Given the description of an element on the screen output the (x, y) to click on. 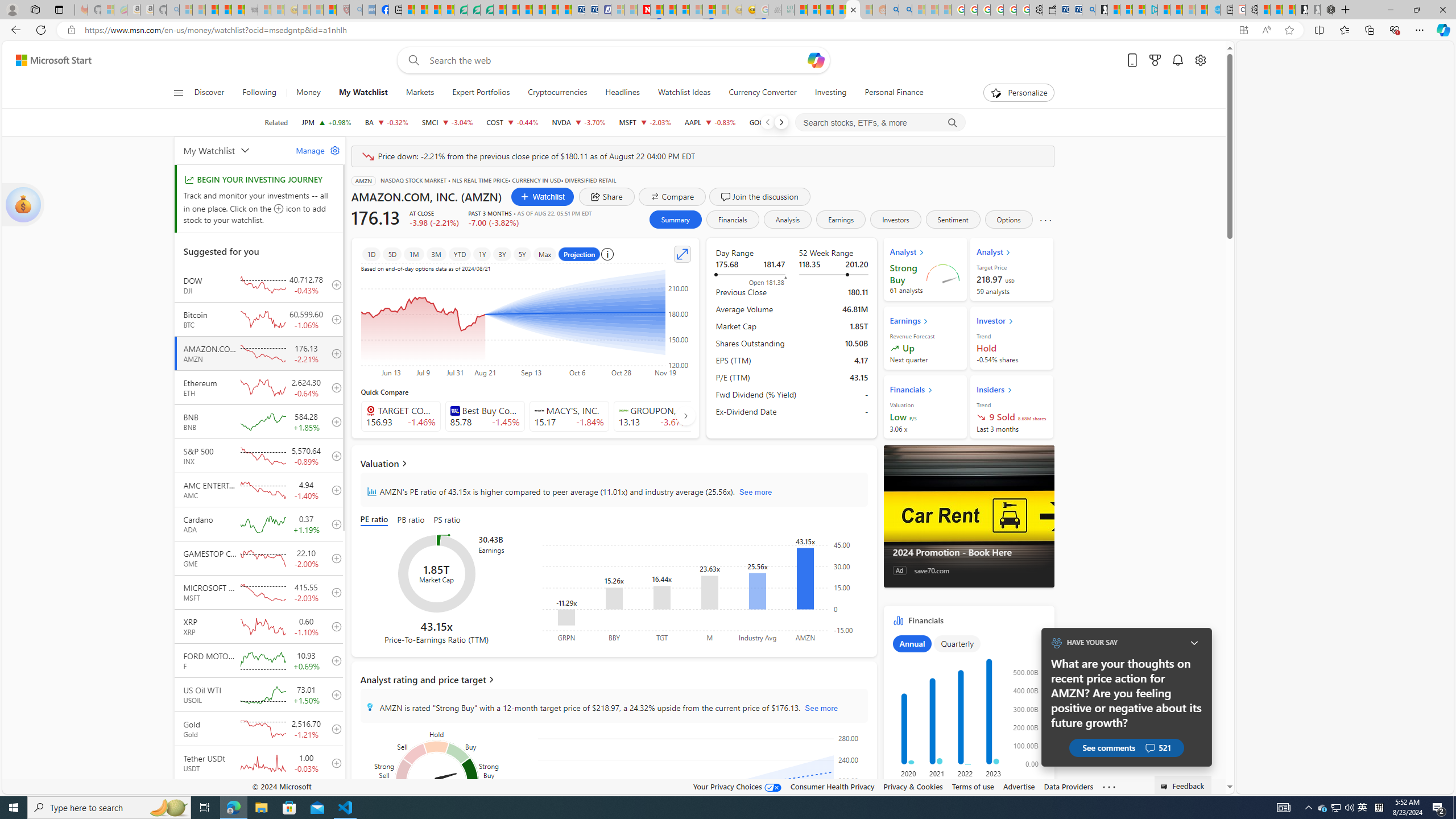
JPM JPMORGAN CHASE & CO. increase 216.71 +2.11 +0.98% (326, 122)
Data Providers (1068, 786)
Wallet (1049, 9)
share dialog (606, 196)
Your Privacy Choices (737, 786)
Analysis (787, 219)
